Given the description of an element on the screen output the (x, y) to click on. 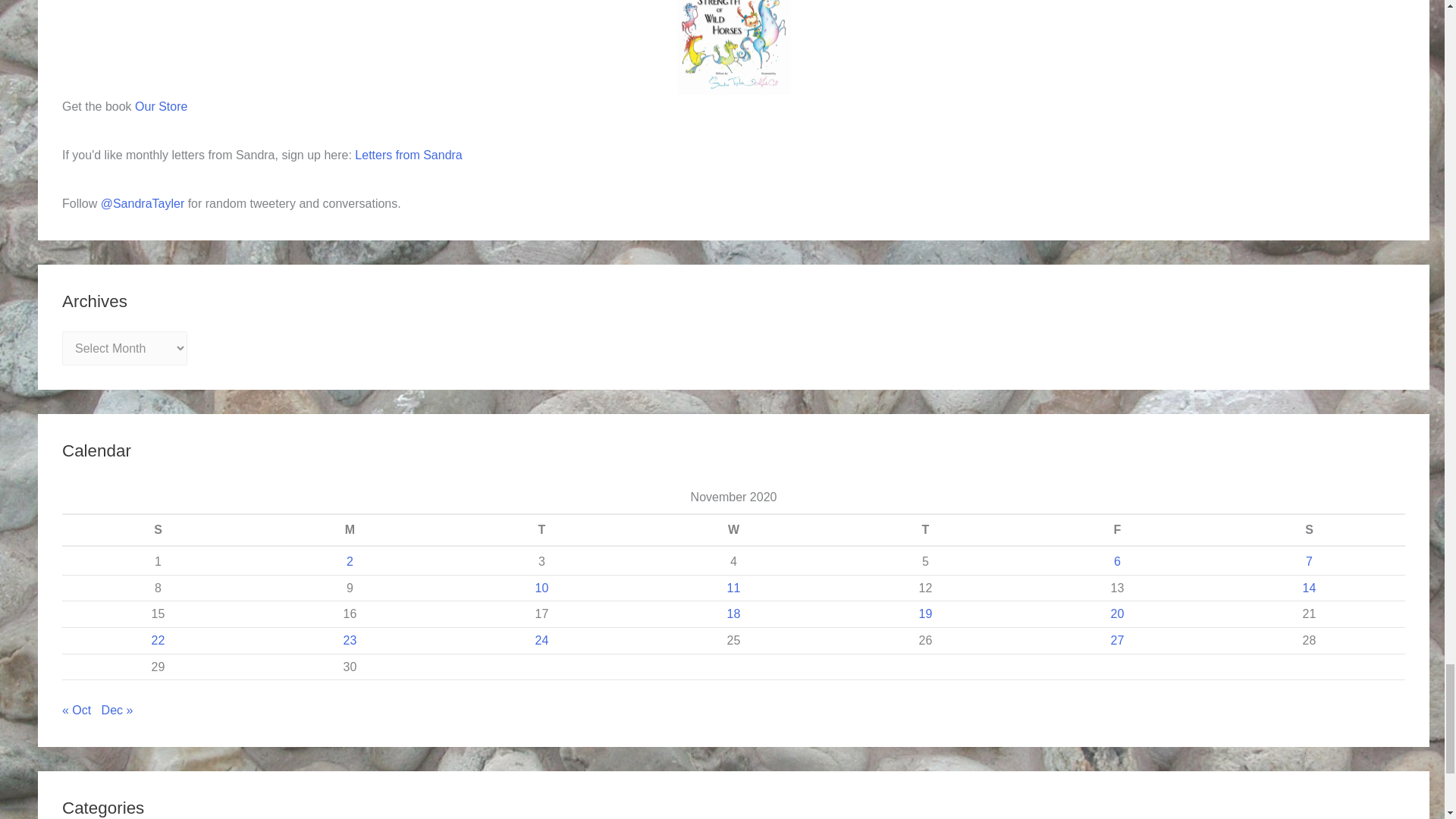
22 (158, 640)
20 (1117, 613)
10 (541, 587)
27 (1117, 640)
Monday (349, 530)
11 (733, 587)
Letters from Sandra (408, 154)
Saturday (1308, 530)
14 (1309, 587)
Wednesday (733, 530)
